Given the description of an element on the screen output the (x, y) to click on. 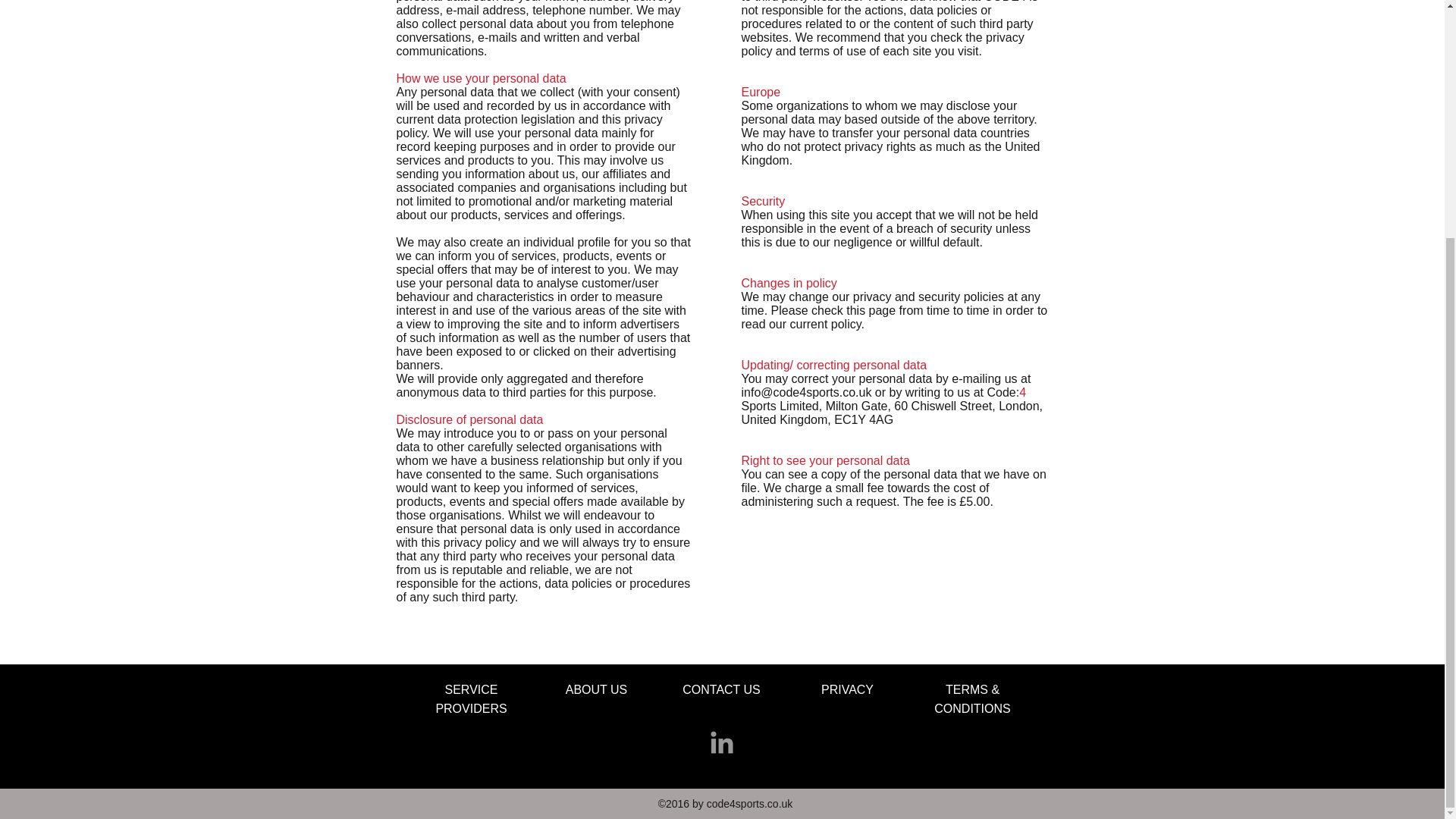
CONTACT US (721, 689)
SERVICE PROVIDERS (470, 698)
ABOUT US (596, 689)
PRIVACY (847, 689)
